Given the description of an element on the screen output the (x, y) to click on. 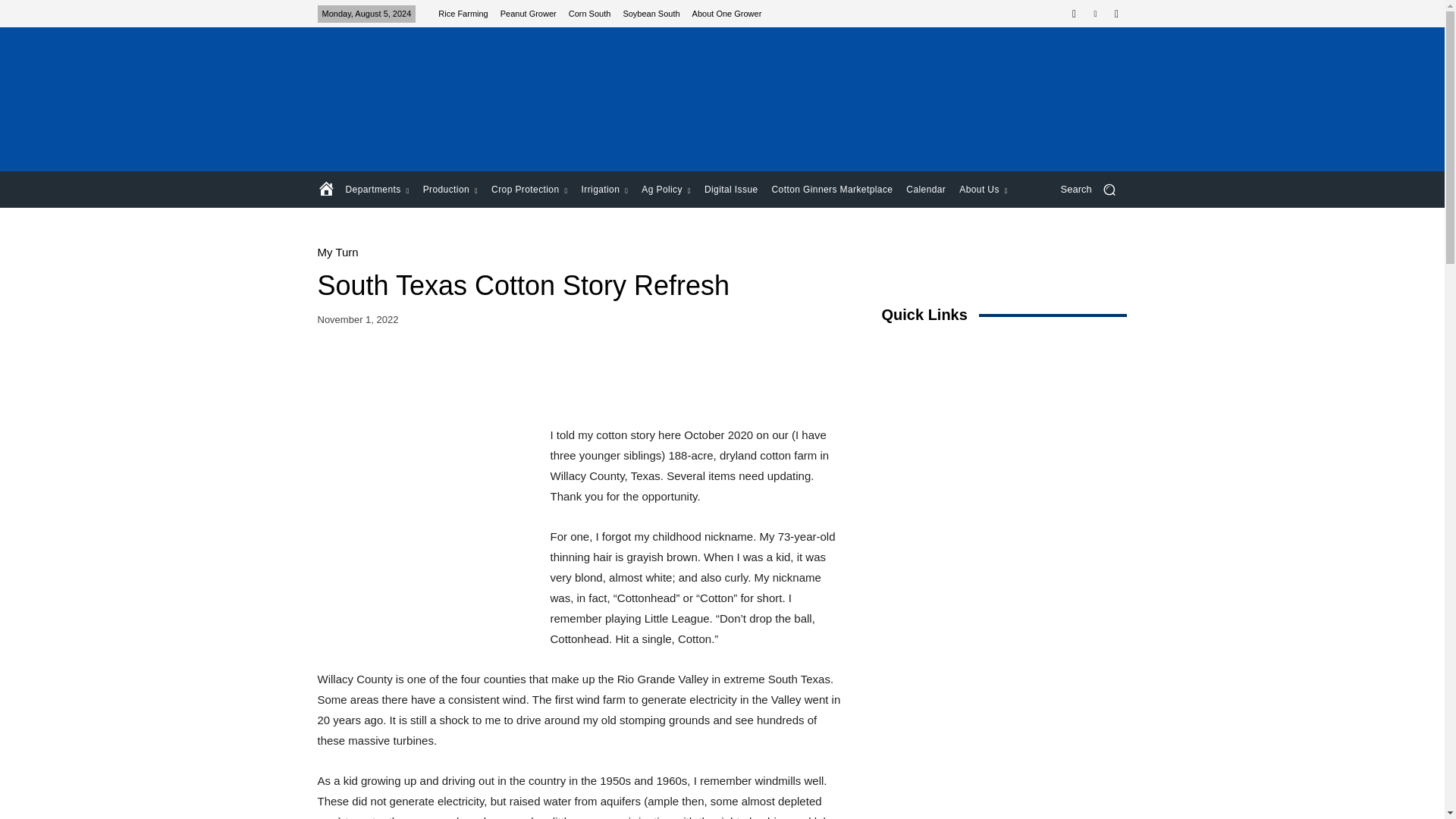
Twitter (1094, 13)
Facebook (1073, 13)
Cotton Farming Header Logo (425, 99)
Rss (1115, 13)
